Given the description of an element on the screen output the (x, y) to click on. 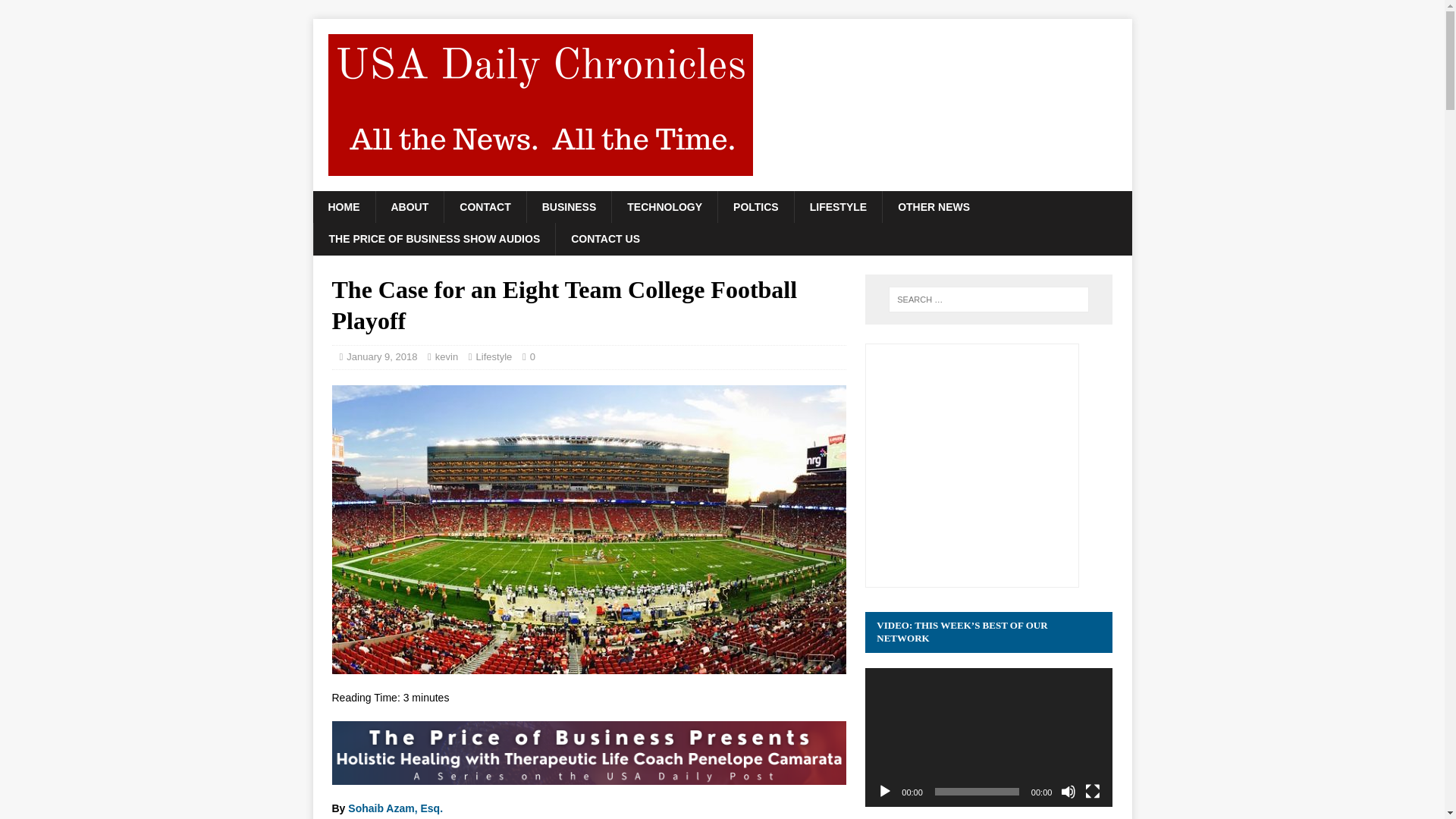
TECHNOLOGY (664, 206)
ABOUT (409, 206)
HOME (343, 206)
POLTICS (755, 206)
kevin (446, 356)
Sohaib Azam, Esq. (394, 808)
Play (884, 791)
January 9, 2018 (381, 356)
BUSINESS (568, 206)
LIFESTYLE (837, 206)
Fullscreen (1092, 791)
THE PRICE OF BUSINESS SHOW AUDIOS (433, 238)
Mute (1068, 791)
EzineArticles Expert Author Sohaib Azam, Esq (394, 808)
